Given the description of an element on the screen output the (x, y) to click on. 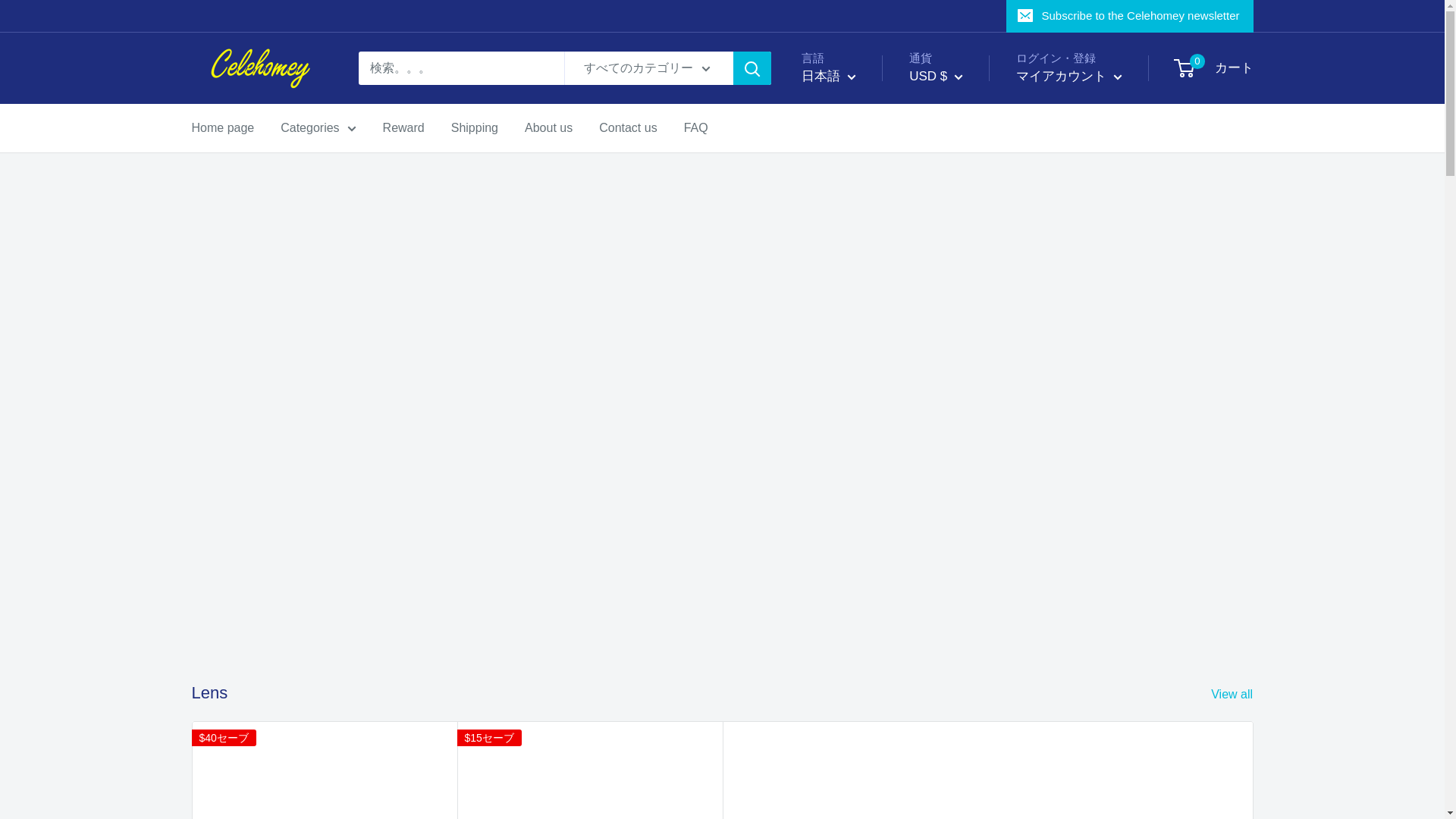
fr (836, 144)
GBP (948, 192)
JPY (948, 215)
es (836, 213)
de (836, 167)
CAD (948, 145)
EUR (948, 168)
ja (836, 190)
en (836, 121)
AUD (948, 122)
Subscribe to the Celehomey newsletter (1129, 15)
